Given the description of an element on the screen output the (x, y) to click on. 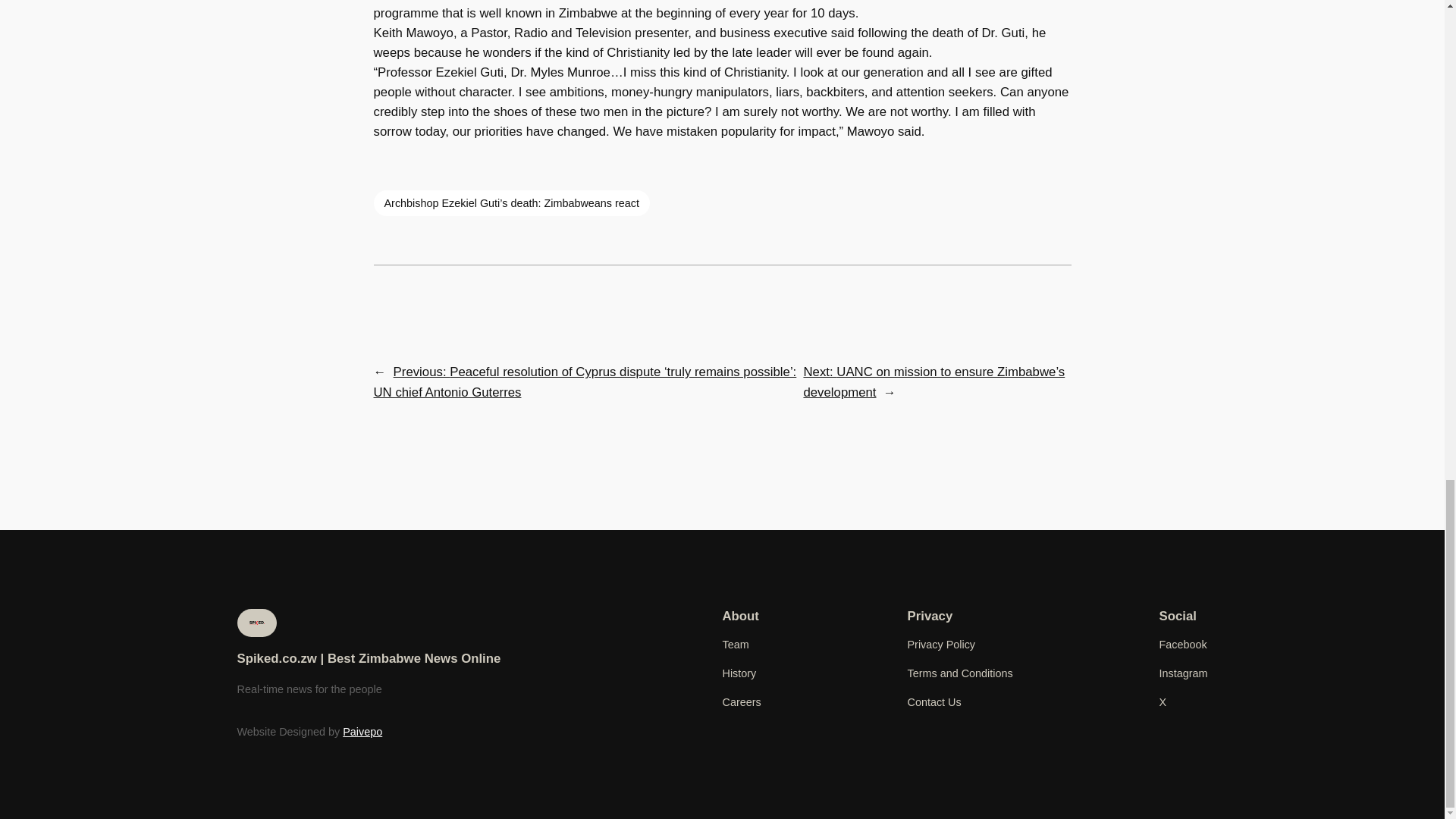
Team (735, 644)
Privacy Policy (941, 644)
Contact Us (933, 701)
Facebook (1182, 644)
Paivepo (361, 731)
Terms and Conditions (959, 673)
Careers (741, 701)
History (738, 673)
Instagram (1182, 673)
